Given the description of an element on the screen output the (x, y) to click on. 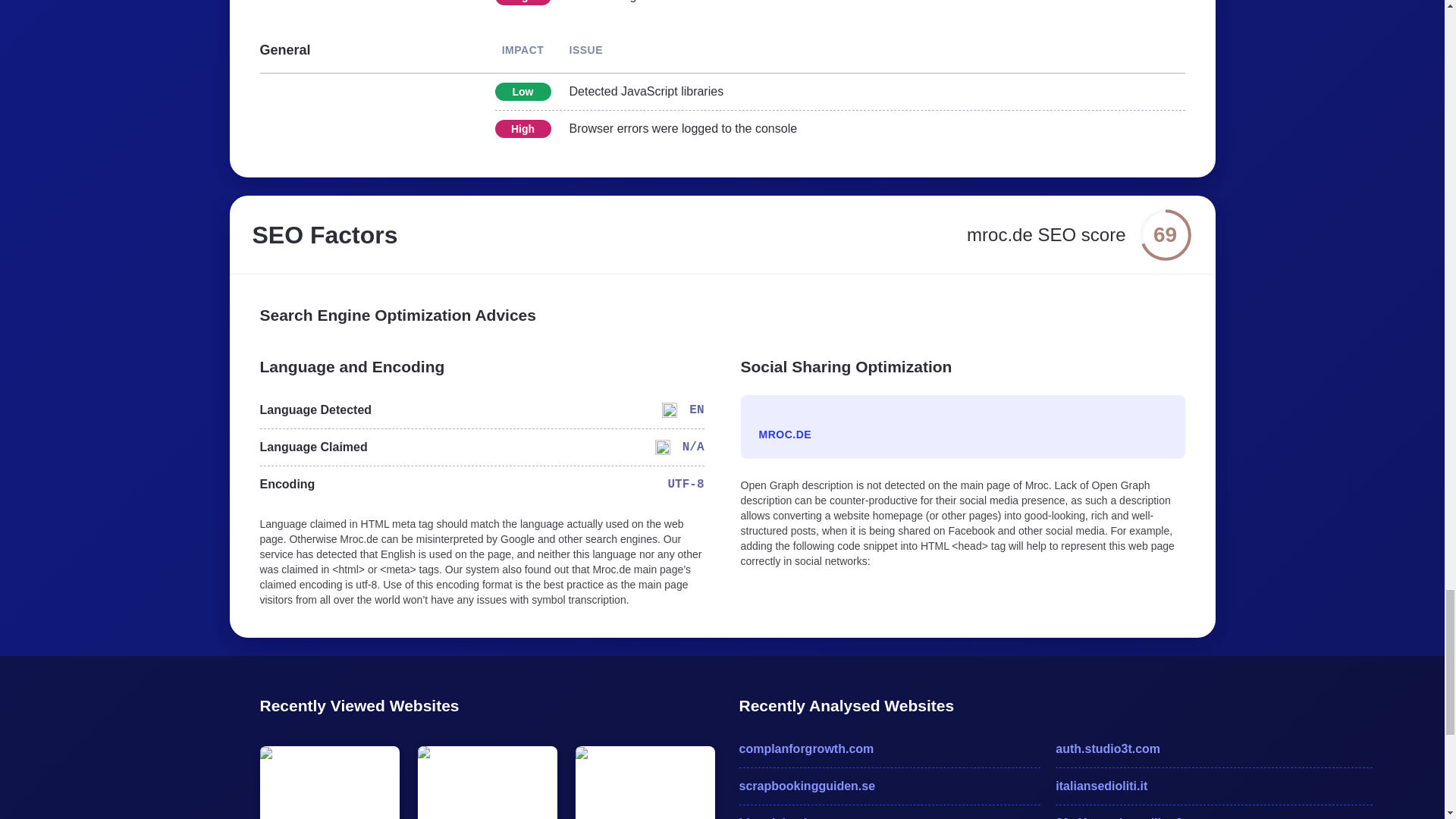
scrapbookingguiden.se (889, 786)
complanforgrowth.com (889, 749)
30gf4.r.ca.d.sendibm2.com (1214, 816)
bloggieland.com (889, 816)
italiansedioliti.it (1214, 786)
auth.studio3t.com (1214, 749)
